Given the description of an element on the screen output the (x, y) to click on. 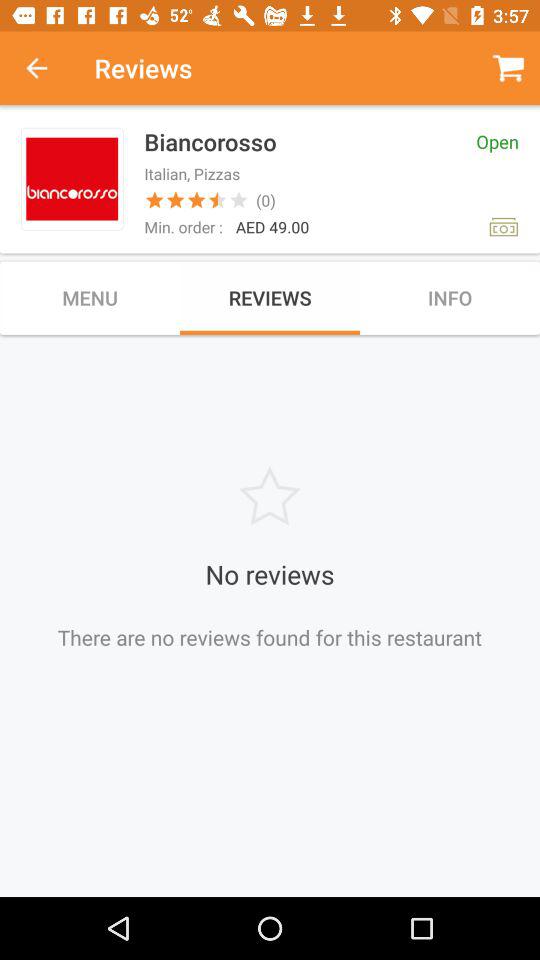
open the icon next to the reviews (47, 68)
